Given the description of an element on the screen output the (x, y) to click on. 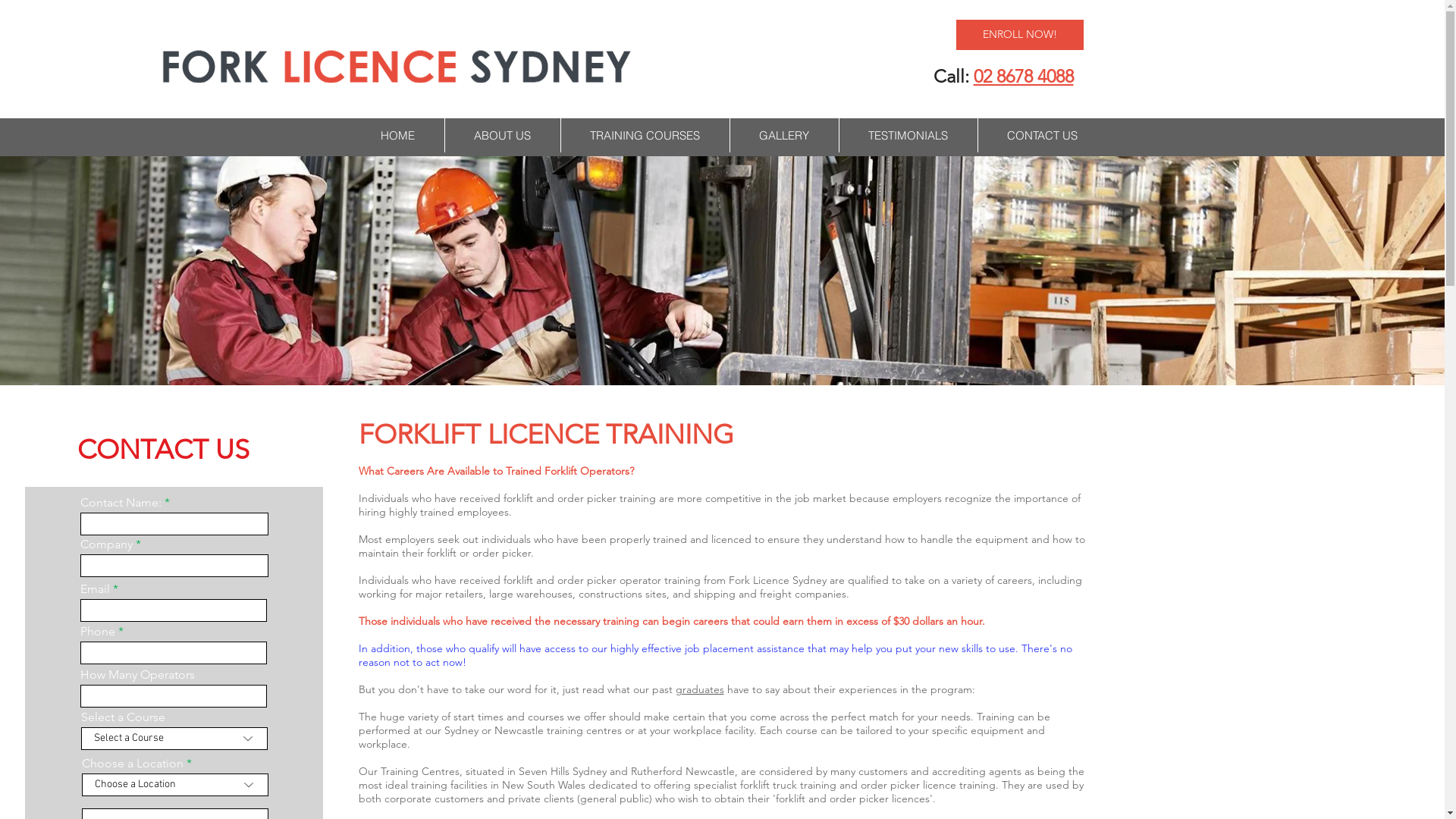
TESTIMONIALS Element type: text (907, 135)
CONTACT US Element type: text (1041, 135)
graduates Element type: text (698, 689)
ABOUT US Element type: text (502, 135)
HOME Element type: text (396, 135)
GALLERY Element type: text (783, 135)
ENROLL NOW! Element type: text (1018, 34)
